Given the description of an element on the screen output the (x, y) to click on. 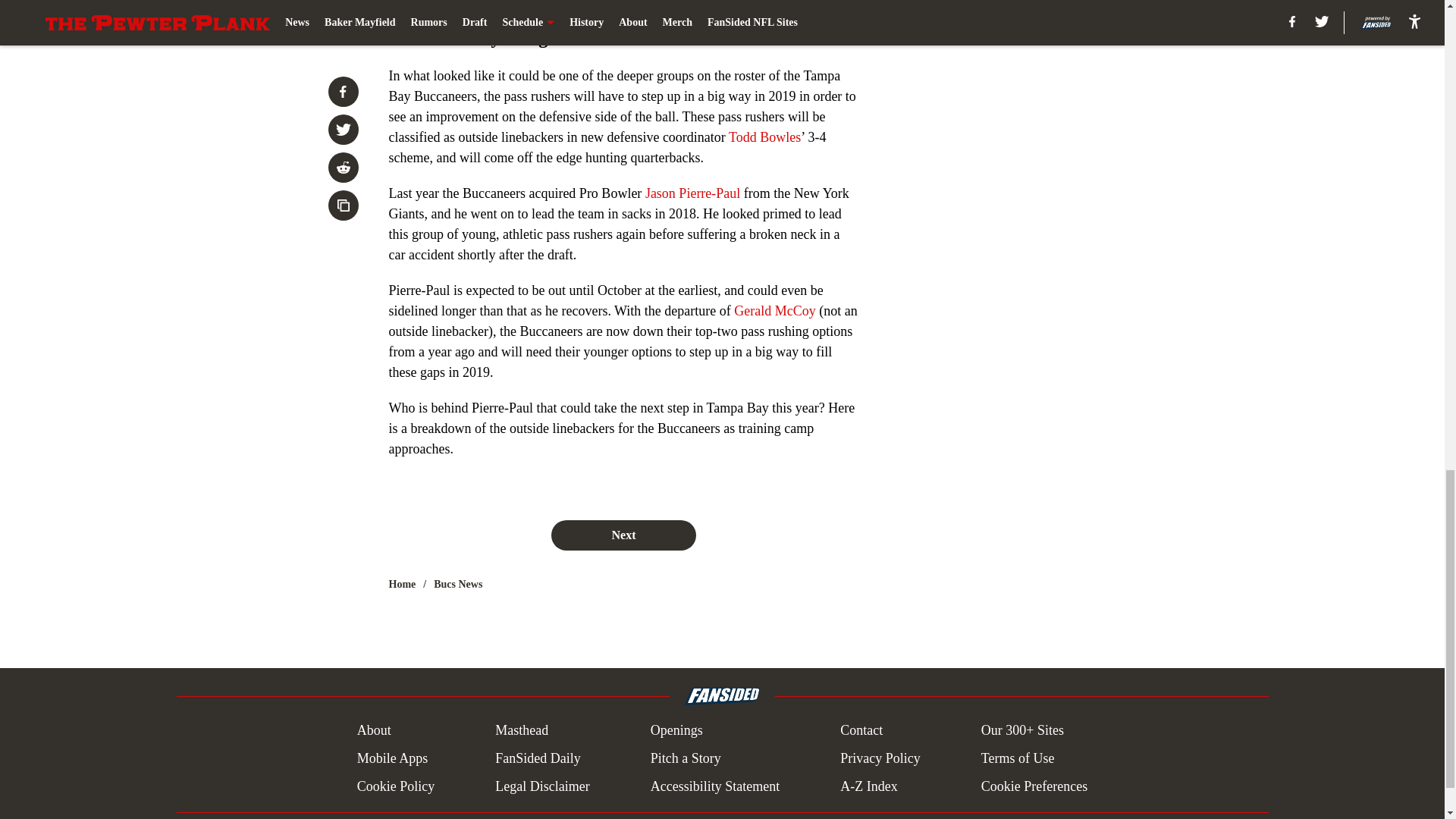
Masthead (521, 730)
Mobile Apps (392, 758)
Jason Pierre-Paul (692, 192)
Next (622, 535)
About (373, 730)
Contact (861, 730)
Openings (676, 730)
Privacy Policy (880, 758)
Gerald McCoy (774, 310)
Pitch a Story (685, 758)
Todd Bowles (764, 136)
FanSided Daily (537, 758)
Home (401, 584)
Bucs News (457, 584)
